Given the description of an element on the screen output the (x, y) to click on. 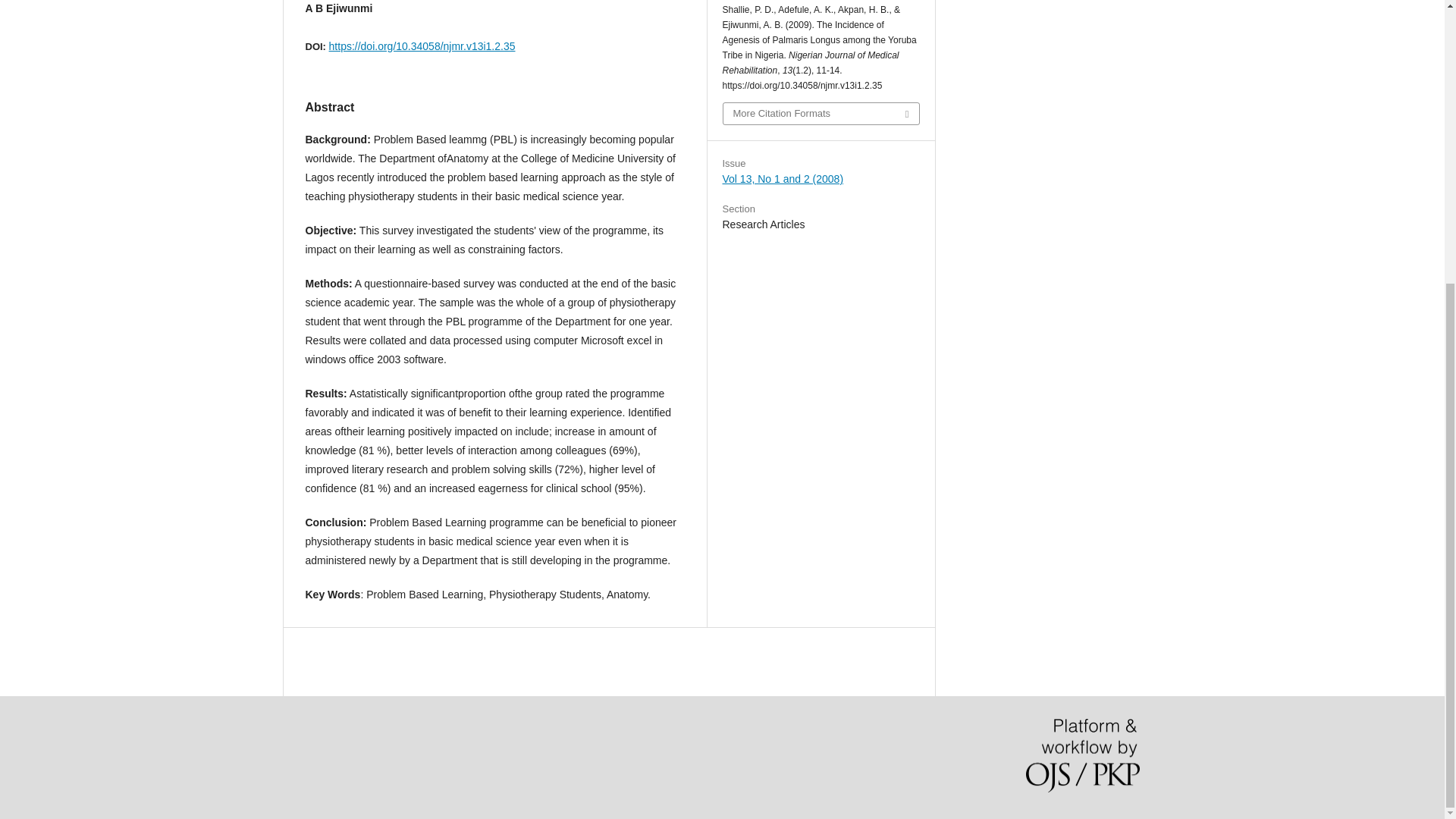
More Citation Formats (820, 113)
